Given the description of an element on the screen output the (x, y) to click on. 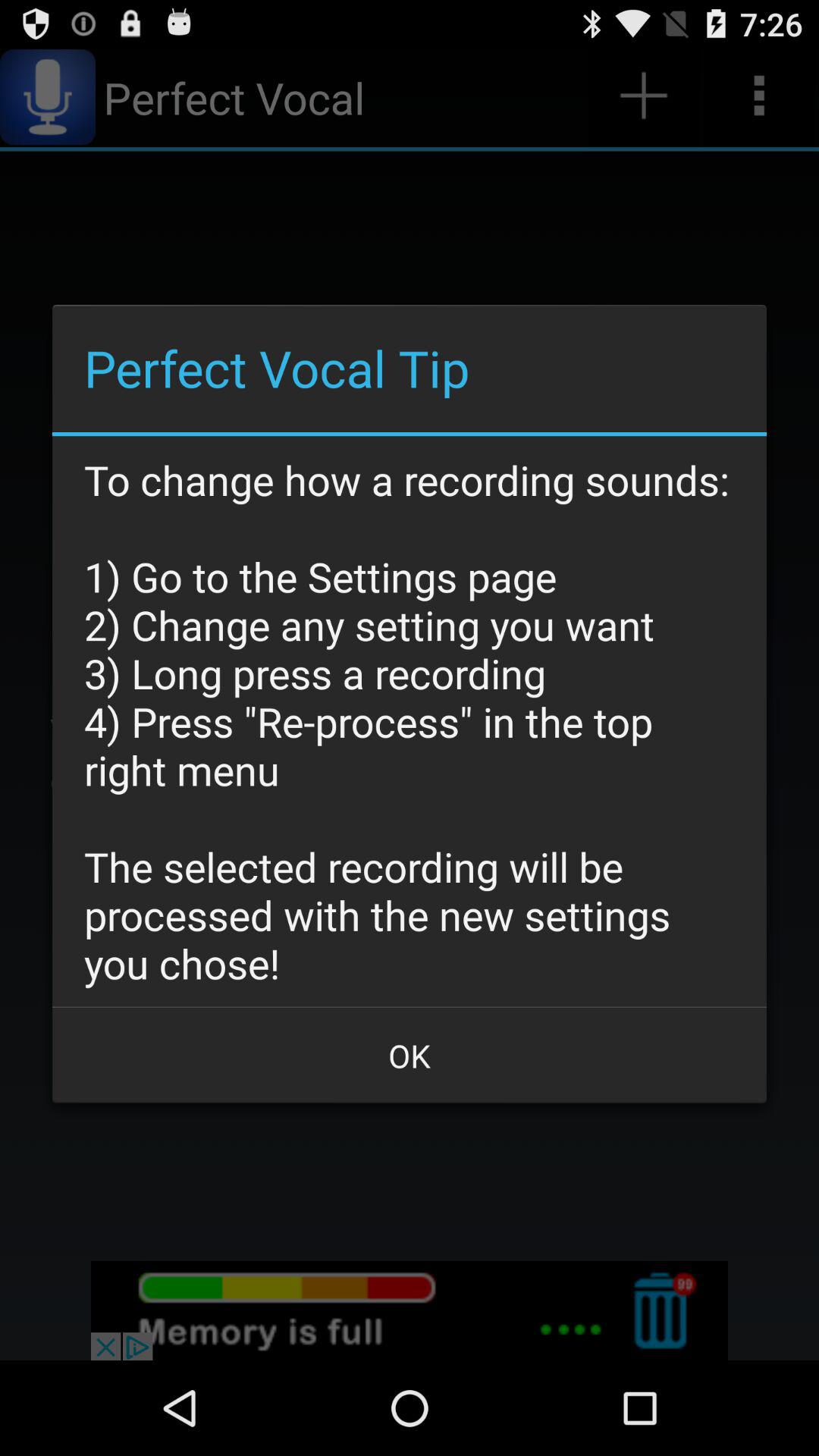
turn off the item at the bottom (409, 1055)
